Given the description of an element on the screen output the (x, y) to click on. 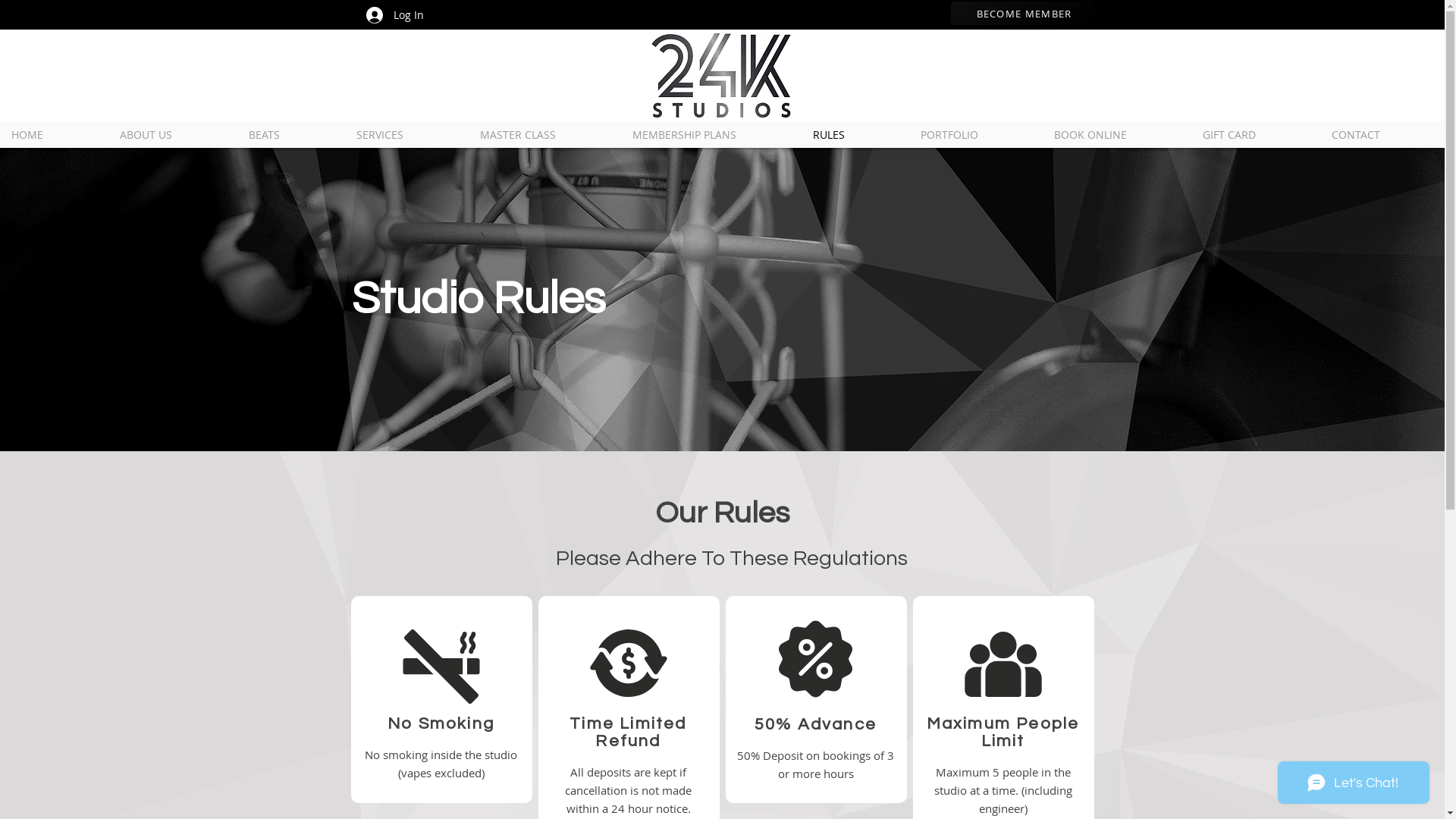
GIFT CARD Element type: text (1255, 134)
CONTACT Element type: text (1382, 134)
HOME Element type: text (54, 134)
BOOK ONLINE Element type: text (1116, 134)
RULES Element type: text (855, 134)
BECOME MEMBER Element type: text (1022, 13)
SERVICES Element type: text (406, 134)
MASTER CLASS Element type: text (544, 134)
MEMBERSHIP PLANS Element type: text (711, 134)
PORTFOLIO Element type: text (975, 134)
BEATS Element type: text (291, 134)
ABOUT US Element type: text (172, 134)
Log In Element type: text (393, 14)
